Given the description of an element on the screen output the (x, y) to click on. 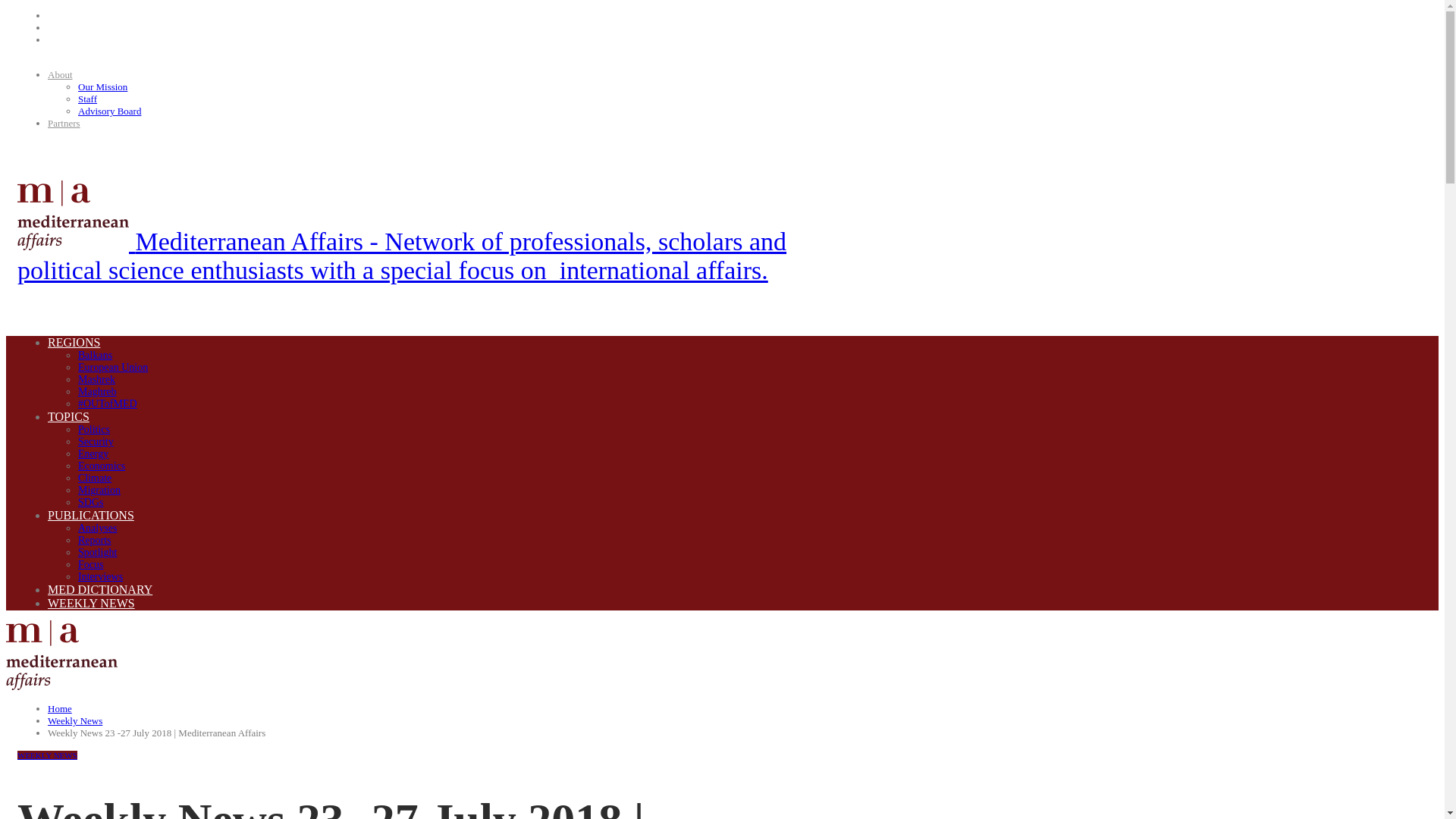
Spotlight (97, 552)
Advisory Board (109, 111)
MED DICTIONARY (121, 589)
TOPICS (90, 416)
Energy (92, 453)
PUBLICATIONS (112, 514)
Focus (90, 564)
Politics (94, 429)
Security (95, 441)
